Given the description of an element on the screen output the (x, y) to click on. 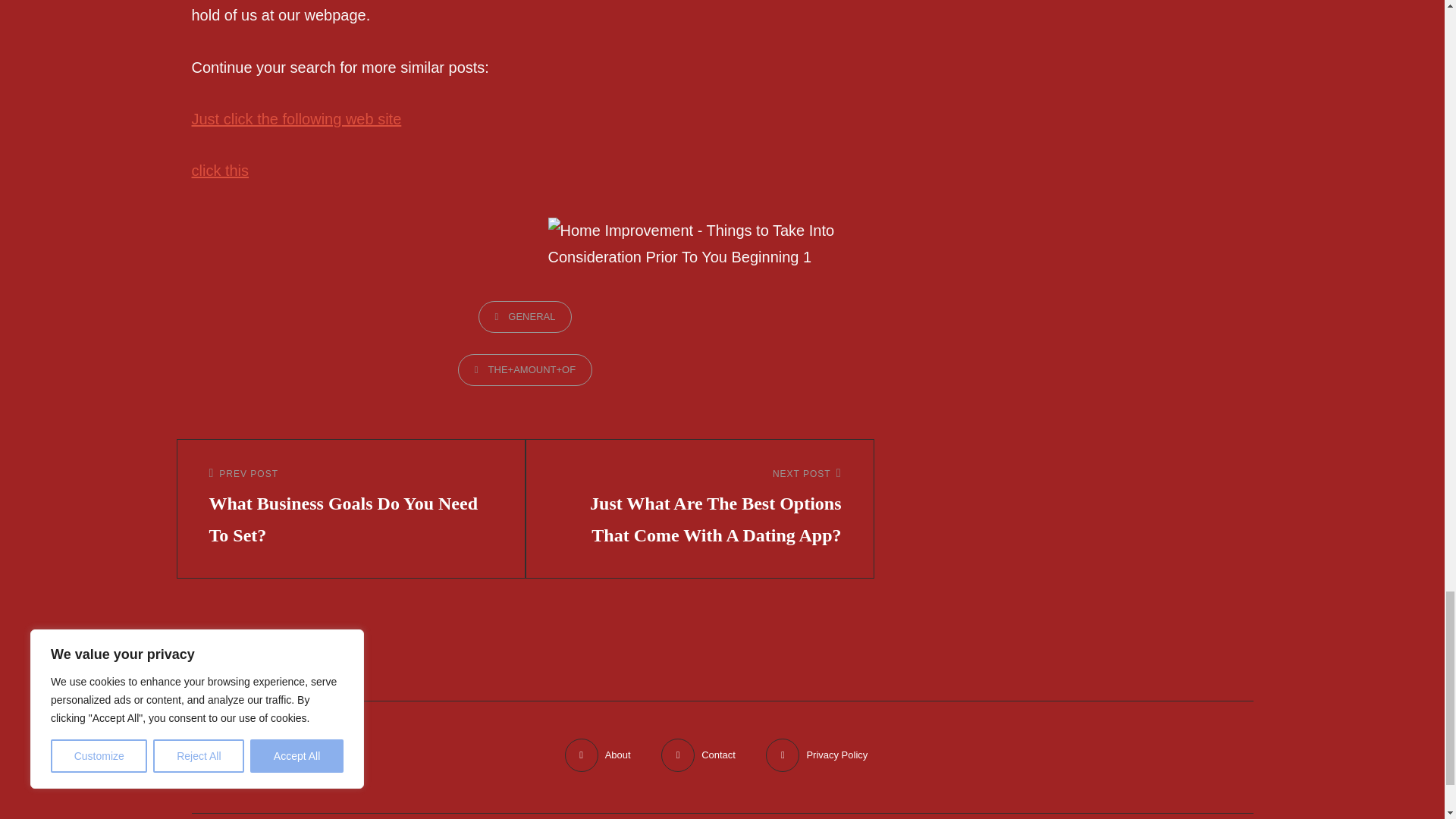
Just click the following web site (295, 118)
click this (219, 170)
GENERAL (525, 316)
